Given the description of an element on the screen output the (x, y) to click on. 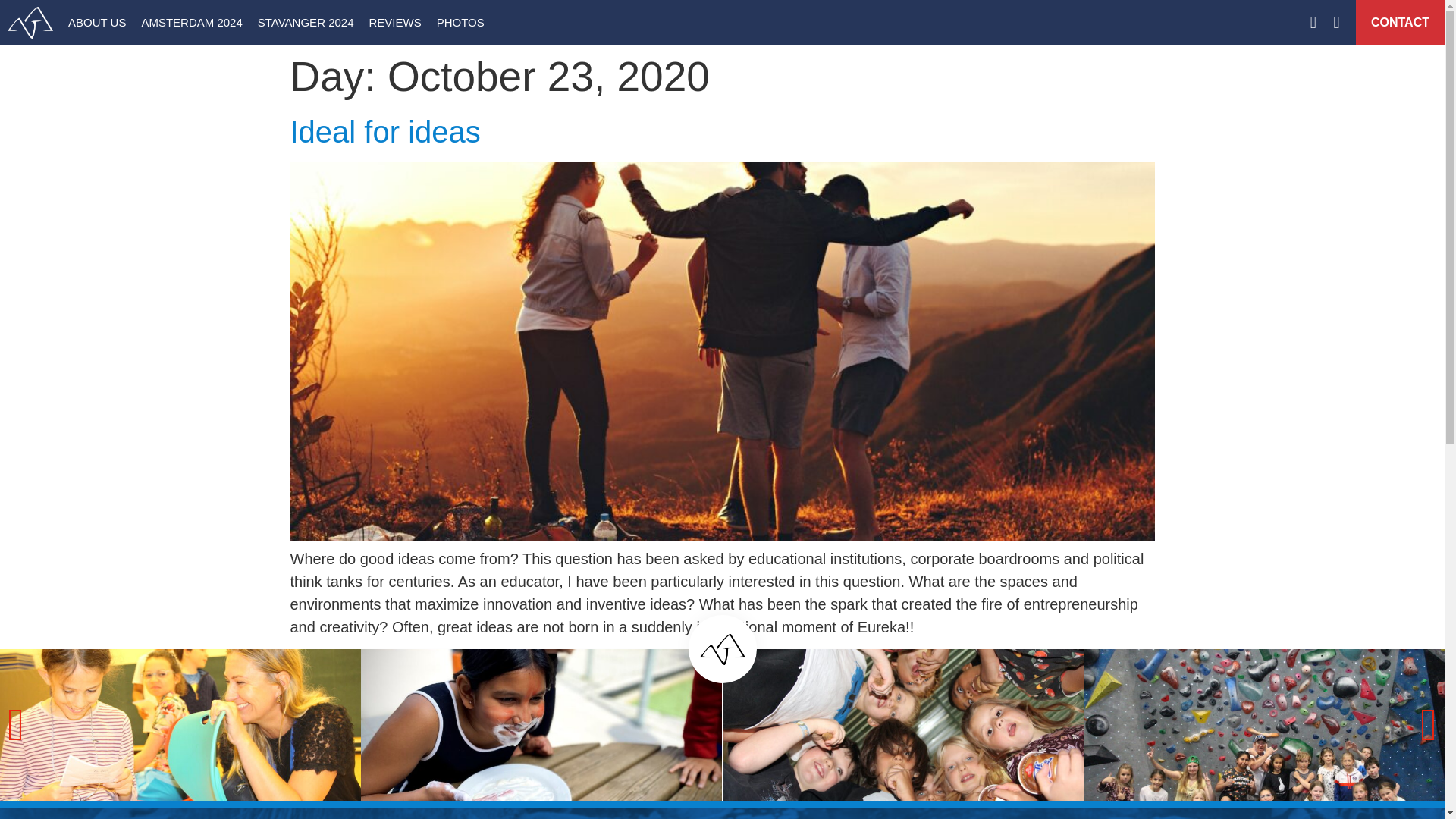
Ideal for ideas (384, 131)
REVIEWS (394, 22)
PHOTOS (460, 22)
ABOUT US (97, 22)
STAVANGER 2024 (305, 22)
AMSTERDAM 2024 (190, 22)
